Given the description of an element on the screen output the (x, y) to click on. 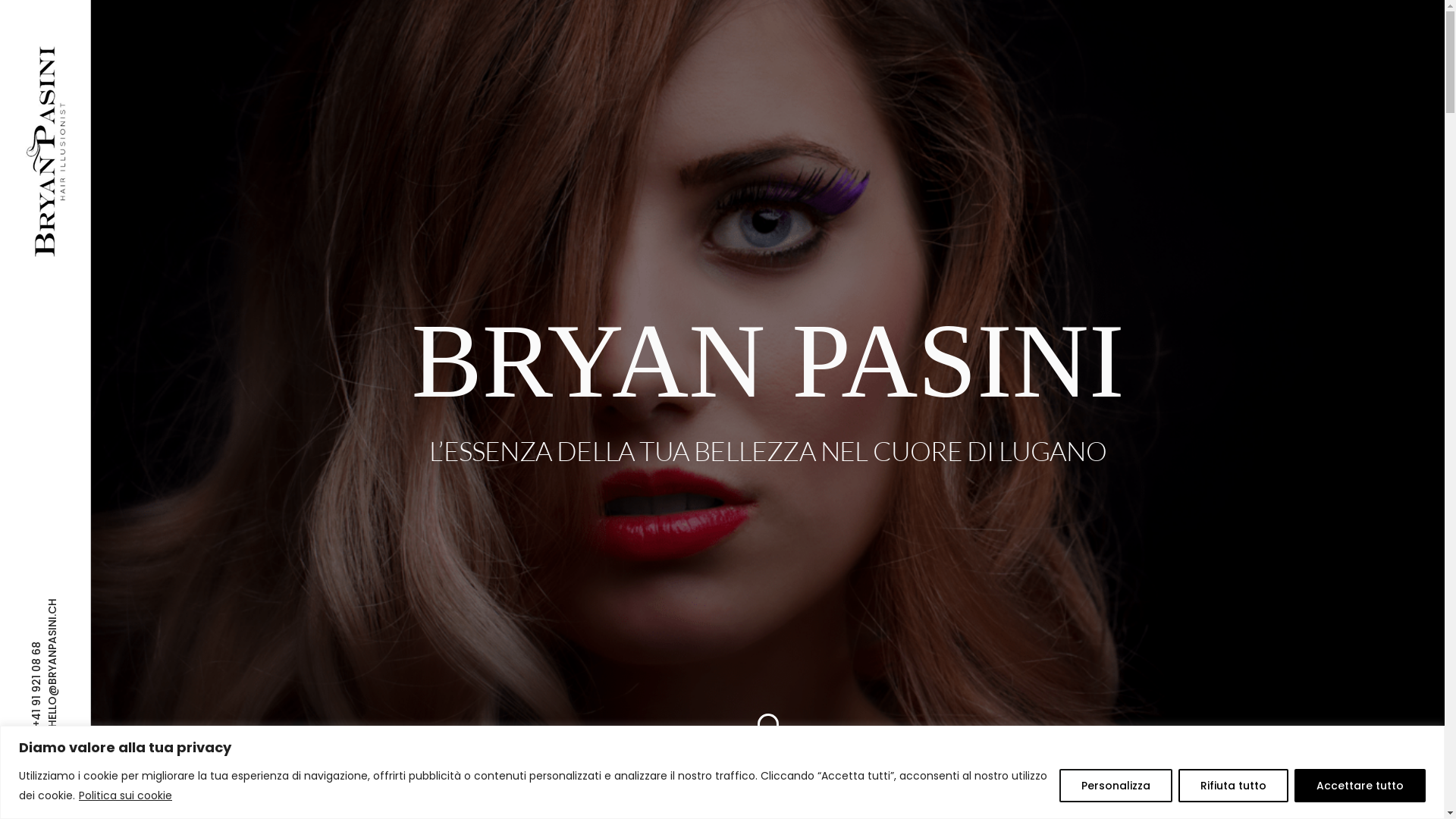
Accettare tutto Element type: text (1359, 785)
Politica sui cookie Element type: text (125, 795)
Rifiuta tutto Element type: text (1233, 785)
Personalizza Element type: text (1115, 785)
